Given the description of an element on the screen output the (x, y) to click on. 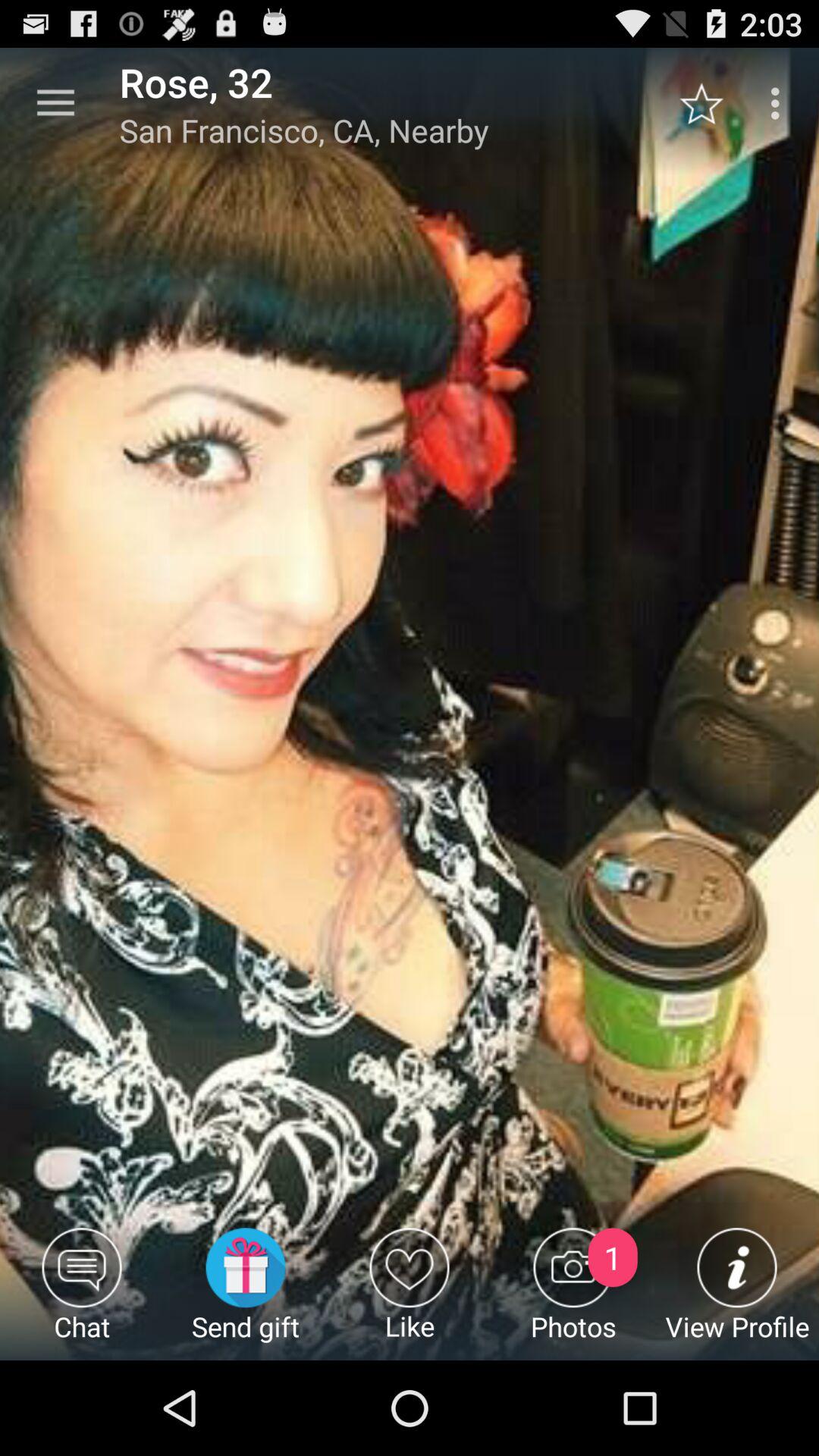
choose the send gift icon (245, 1293)
